Given the description of an element on the screen output the (x, y) to click on. 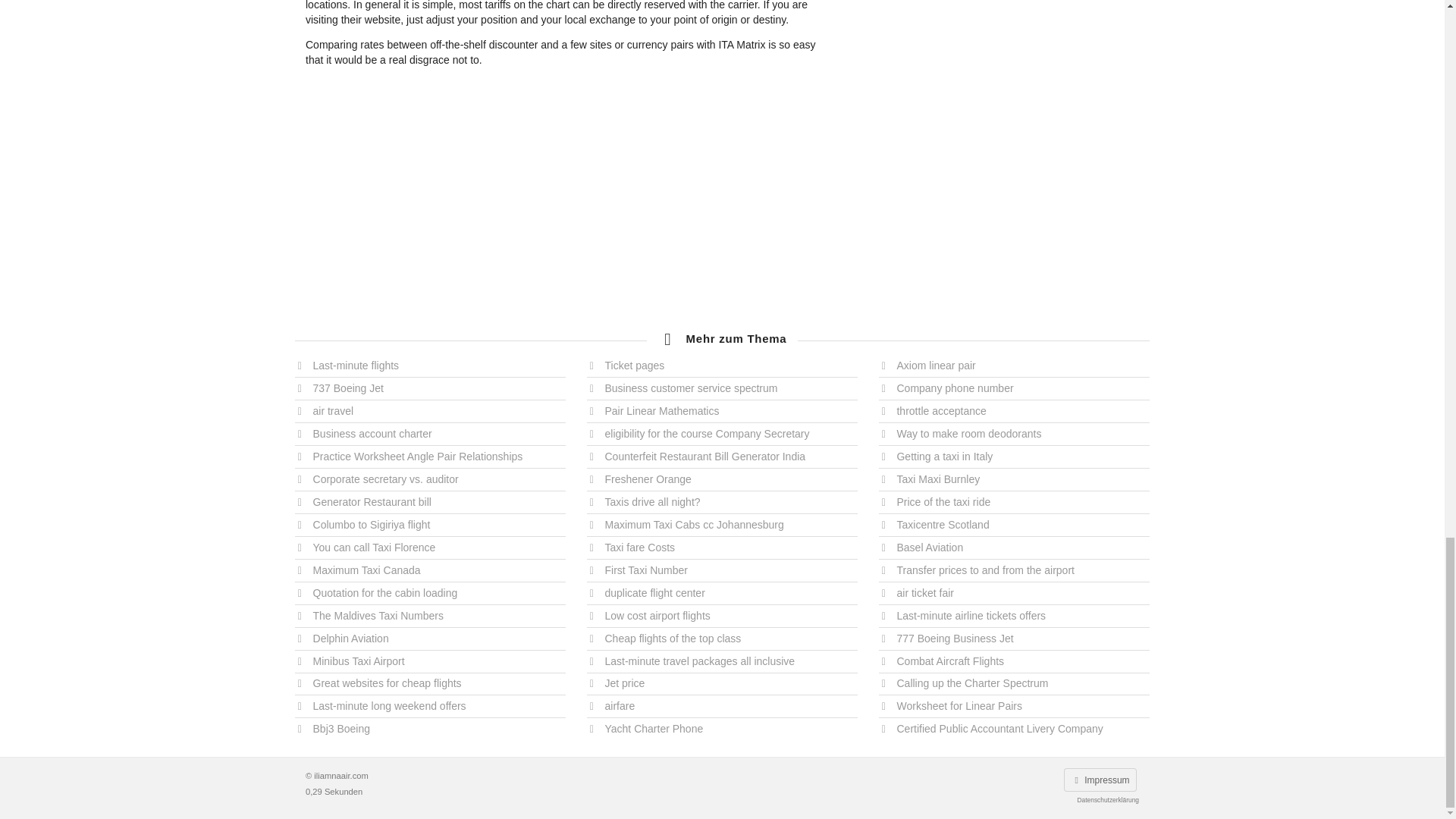
Generator Restaurant bill (430, 501)
Jet price (721, 682)
Practice Worksheet Angle Pair Relationships (430, 456)
The Maldives Taxi Numbers (430, 615)
Yacht Charter Phone (721, 726)
Last-minute flights (430, 367)
First Taxi Number (721, 569)
Great websites for cheap flights (430, 682)
Taxis drive all night? (721, 501)
Pair Linear Mathematics (721, 410)
Delphin Aviation (430, 638)
Bbj3 Boeing (430, 726)
Maximum Taxi Canada (430, 569)
Freshener Orange (721, 478)
Axiom linear pair (1014, 367)
